Given the description of an element on the screen output the (x, y) to click on. 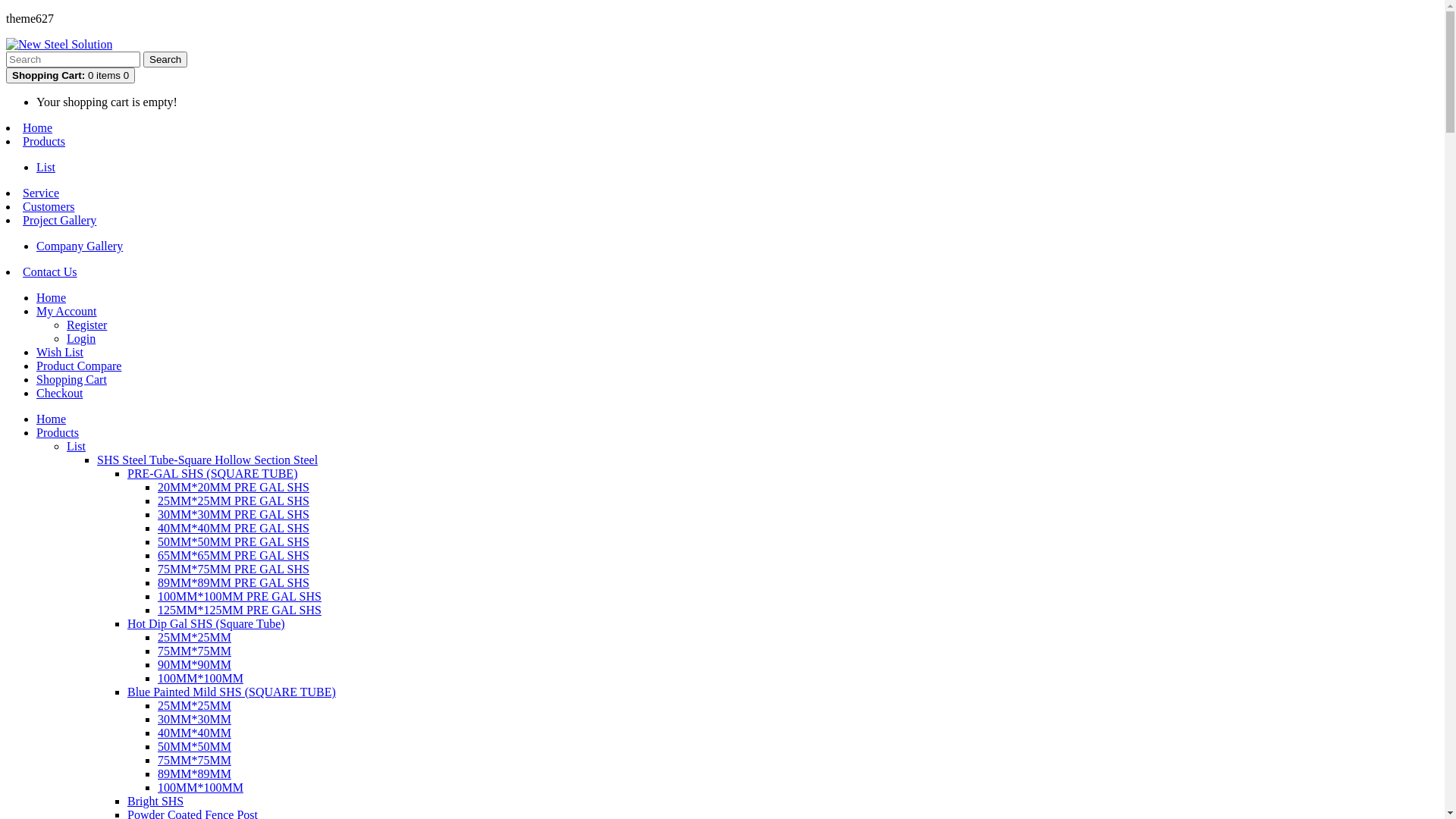
List Element type: text (45, 166)
Home Element type: text (50, 297)
50MM*50MM Element type: text (194, 746)
Checkout Element type: text (59, 392)
Products Element type: text (57, 432)
Home Element type: text (50, 418)
Shopping Cart: 0 items 0 Element type: text (70, 75)
Company Gallery Element type: text (79, 245)
Blue Painted Mild SHS (SQUARE TUBE) Element type: text (231, 691)
Register Element type: text (86, 324)
89MM*89MM Element type: text (194, 773)
New Steel Solution Element type: hover (59, 44)
List Element type: text (75, 445)
75MM*75MM Element type: text (194, 759)
Service Element type: text (40, 192)
65MM*65MM PRE GAL SHS Element type: text (233, 555)
25MM*25MM PRE GAL SHS Element type: text (233, 500)
Shopping Cart Element type: text (71, 379)
89MM*89MM PRE GAL SHS Element type: text (233, 582)
50MM*50MM PRE GAL SHS Element type: text (233, 541)
Customers Element type: text (48, 206)
100MM*100MM PRE GAL SHS Element type: text (239, 595)
Project Gallery Element type: text (59, 219)
20MM*20MM PRE GAL SHS Element type: text (233, 486)
125MM*125MM PRE GAL SHS Element type: text (239, 609)
90MM*90MM Element type: text (194, 664)
100MM*100MM Element type: text (200, 677)
40MM*40MM PRE GAL SHS Element type: text (233, 527)
Login Element type: text (80, 338)
25MM*25MM Element type: text (194, 705)
Hot Dip Gal SHS (Square Tube) Element type: text (206, 623)
75MM*75MM PRE GAL SHS Element type: text (233, 568)
PRE-GAL SHS (SQUARE TUBE) Element type: text (212, 473)
Products Element type: text (43, 140)
SHS Steel Tube-Square Hollow Section Steel Element type: text (207, 459)
Wish List Element type: text (59, 351)
25MM*25MM Element type: text (194, 636)
40MM*40MM Element type: text (194, 732)
75MM*75MM Element type: text (194, 650)
Bright SHS Element type: text (155, 800)
100MM*100MM Element type: text (200, 787)
Product Compare Element type: text (78, 365)
30MM*30MM PRE GAL SHS Element type: text (233, 514)
My Account Element type: text (66, 310)
Contact Us Element type: text (49, 271)
30MM*30MM Element type: text (194, 718)
Home Element type: text (37, 127)
Search Element type: text (165, 59)
